Given the description of an element on the screen output the (x, y) to click on. 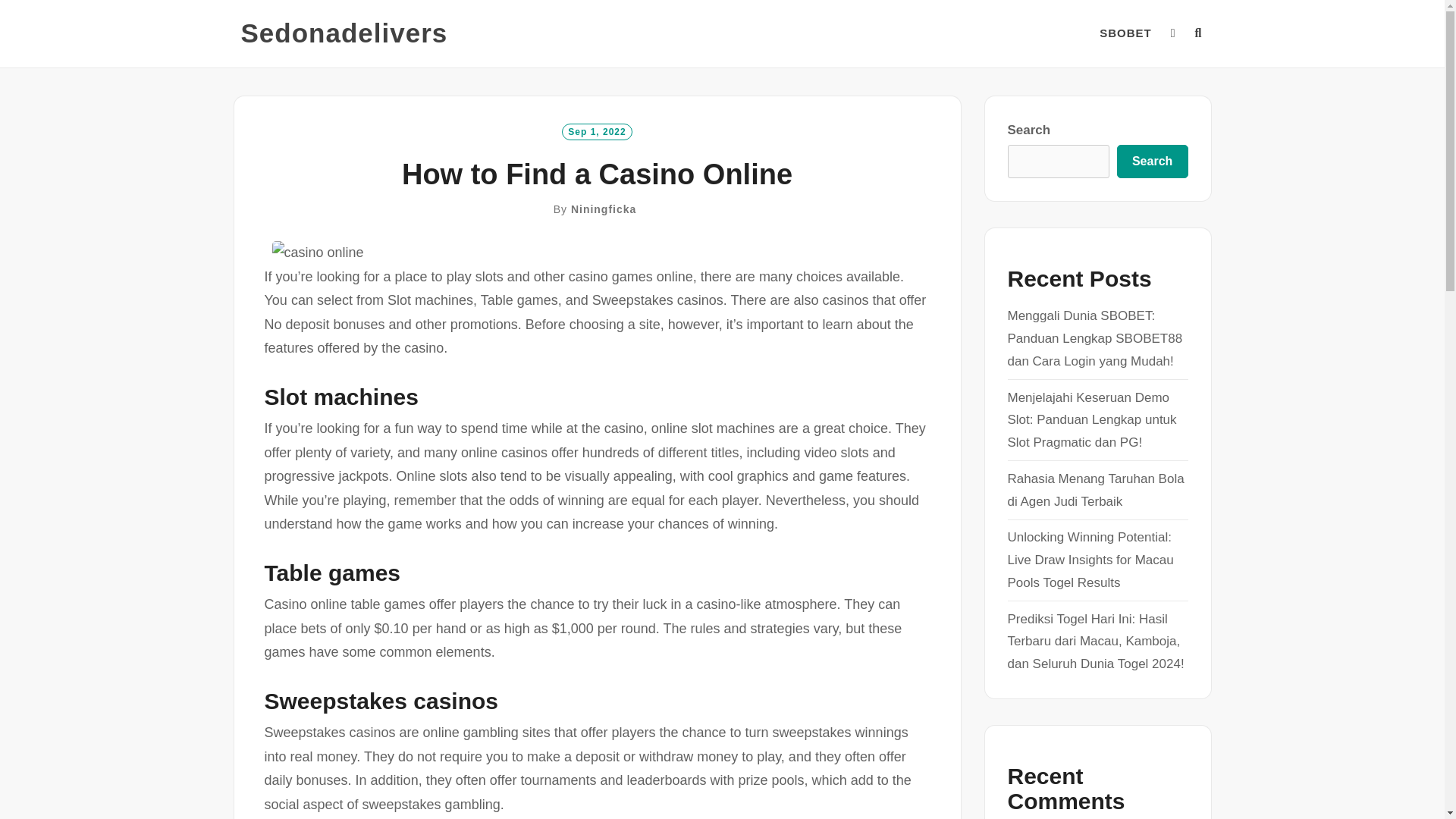
Rahasia Menang Taruhan Bola di Agen Judi Terbaik (1095, 489)
SBOBET (1125, 33)
Sedonadelivers (344, 33)
Niningficka (603, 209)
Sep 1, 2022 (596, 130)
Search (1152, 161)
